Given the description of an element on the screen output the (x, y) to click on. 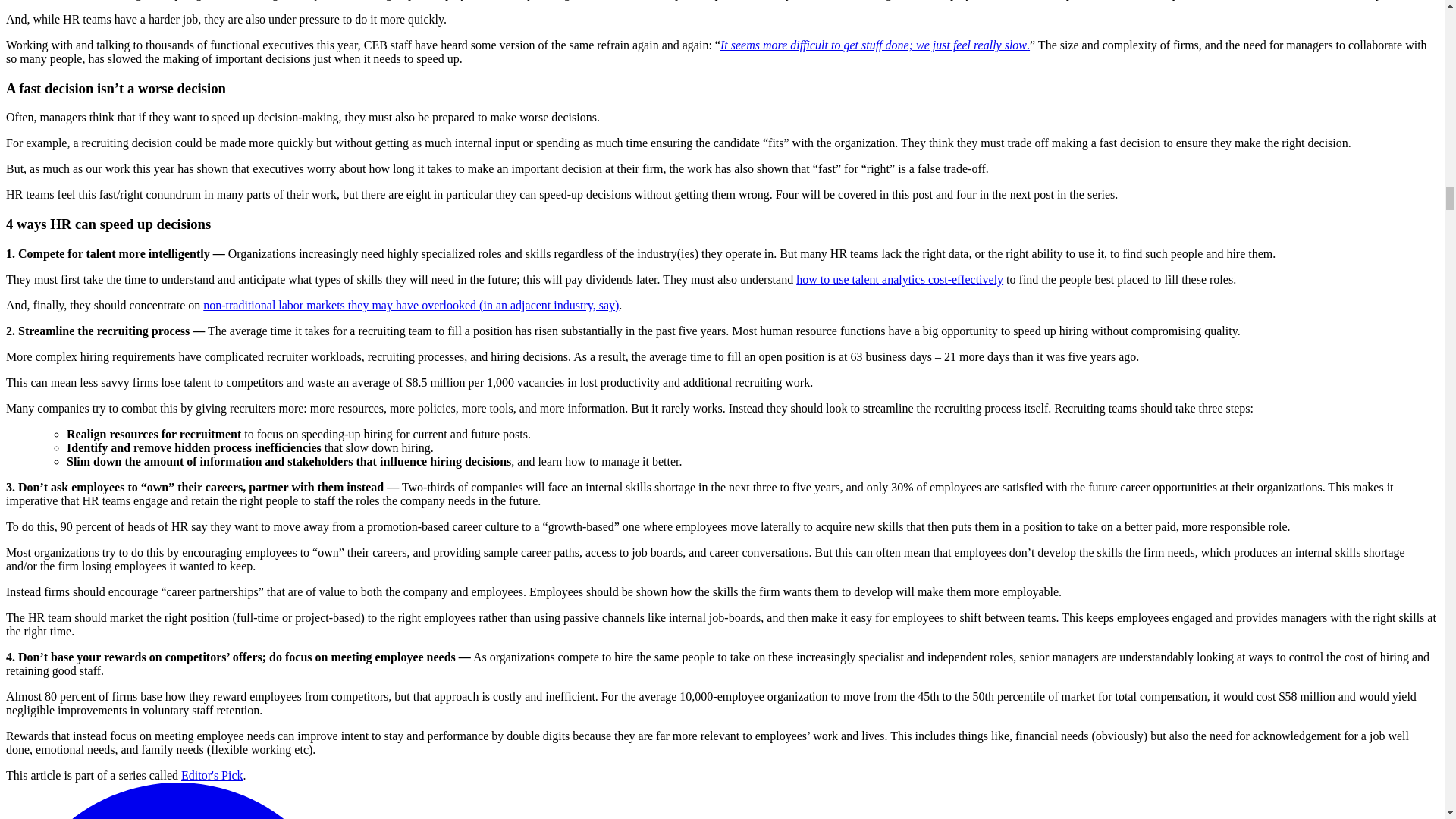
how to use talent analytics cost-effectively (899, 278)
Editor's Pick (211, 775)
